Given the description of an element on the screen output the (x, y) to click on. 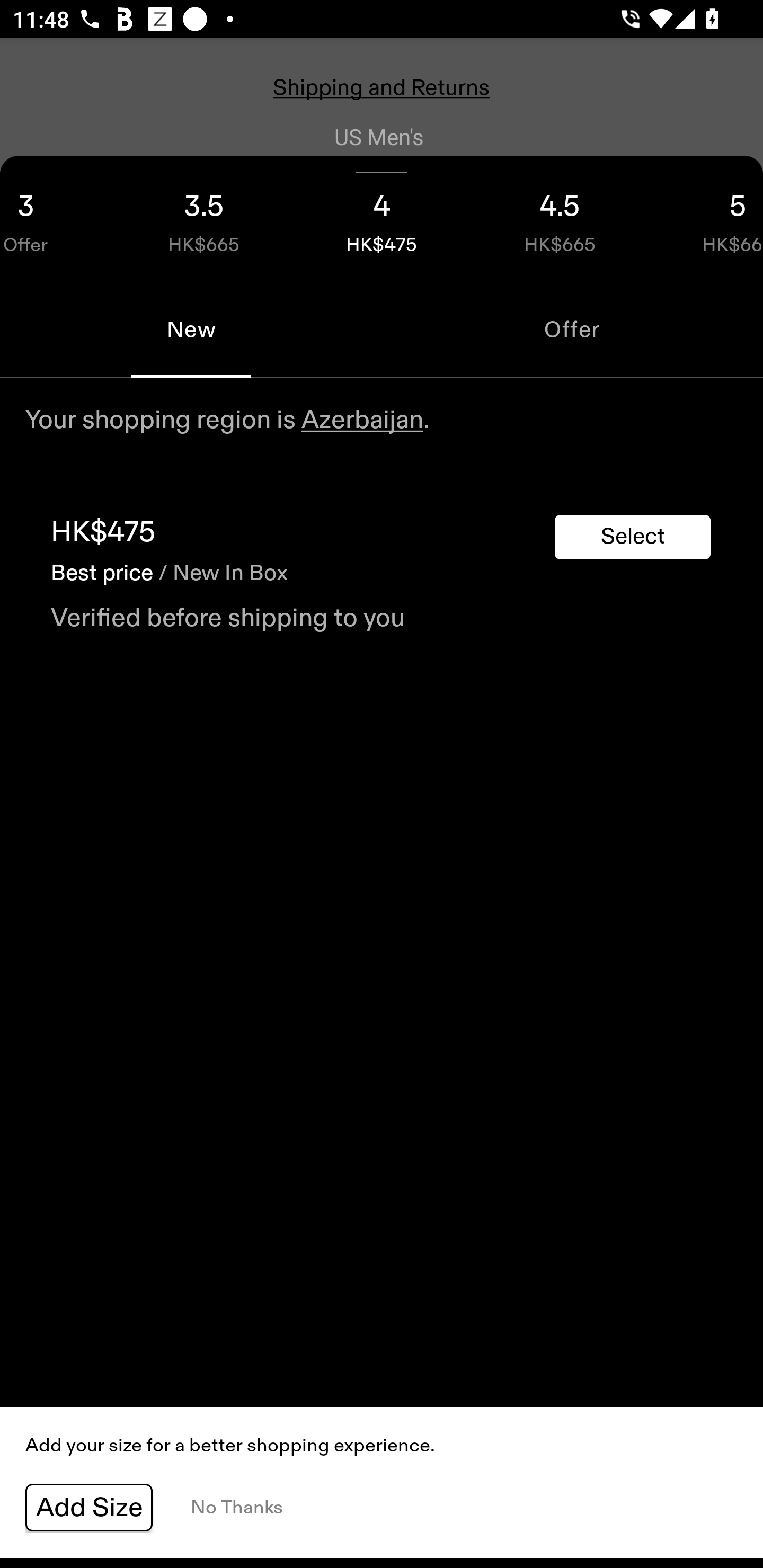
3 Offer (57, 218)
3.5 HK$665 (203, 218)
4 HK$475 (381, 218)
4.5 HK$665 (559, 218)
5 HK$665 (705, 218)
Offer (572, 329)
Select (632, 536)
No Thanks (236, 1507)
Add Size (88, 1507)
